Given the description of an element on the screen output the (x, y) to click on. 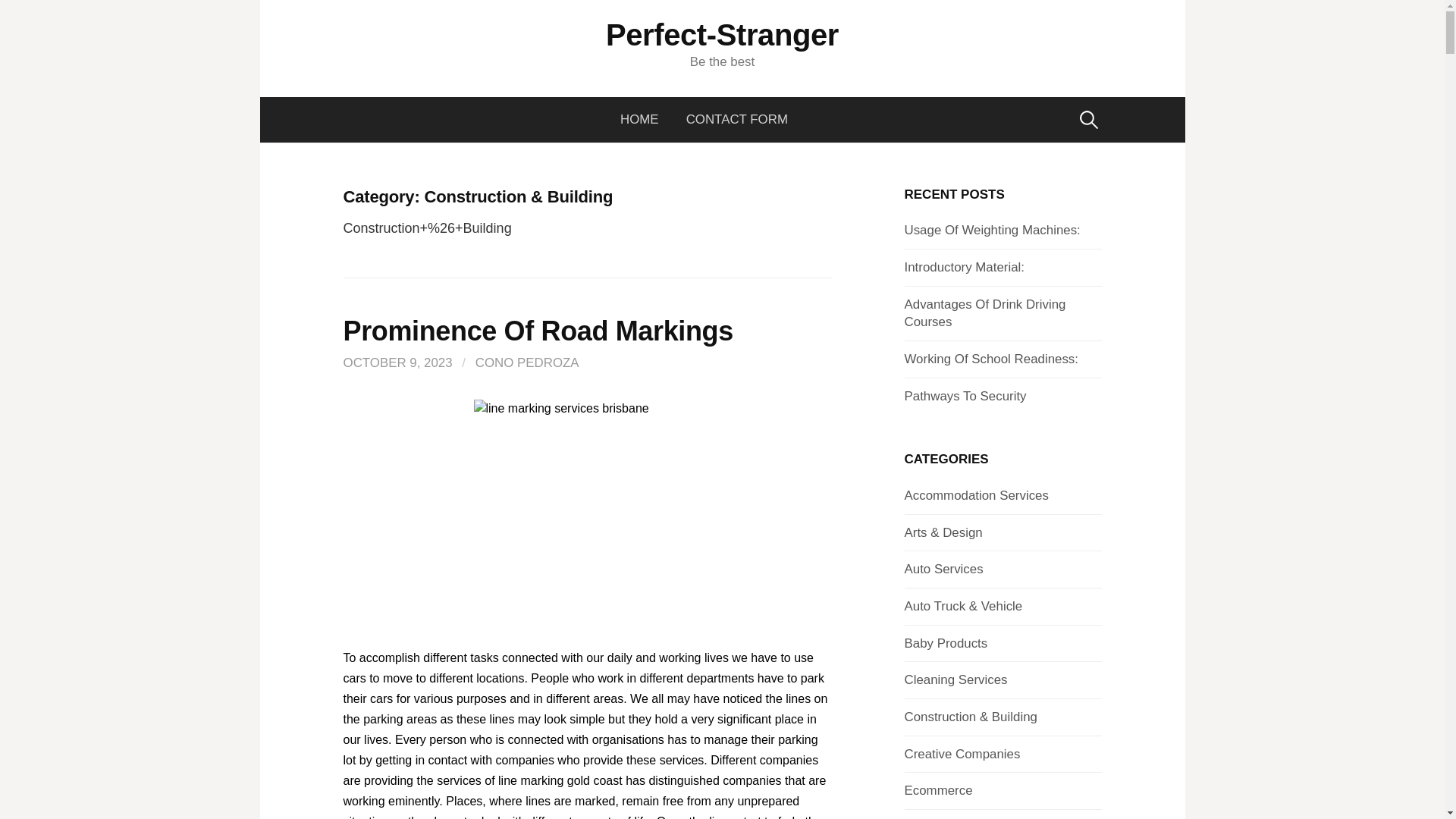
Search (16, 16)
Perfect-Stranger (721, 34)
line marking services brisbane (586, 513)
OCTOBER 9, 2023 (396, 362)
CONO PEDROZA (527, 362)
CONTACT FORM (737, 119)
Prominence Of Road Markings (537, 330)
HOME (646, 119)
